Given the description of an element on the screen output the (x, y) to click on. 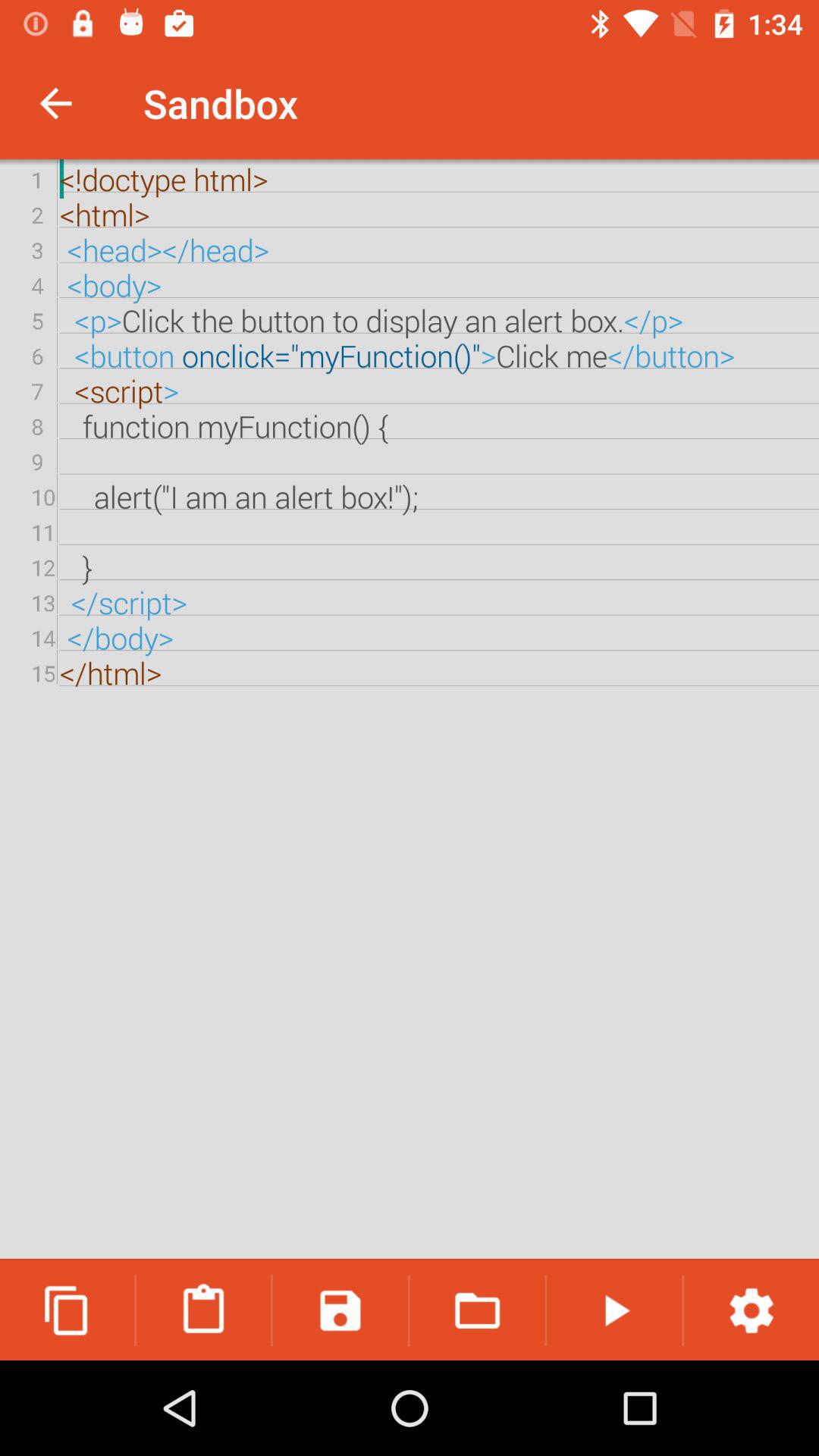
open the icon below the doctype html html (203, 1310)
